Given the description of an element on the screen output the (x, y) to click on. 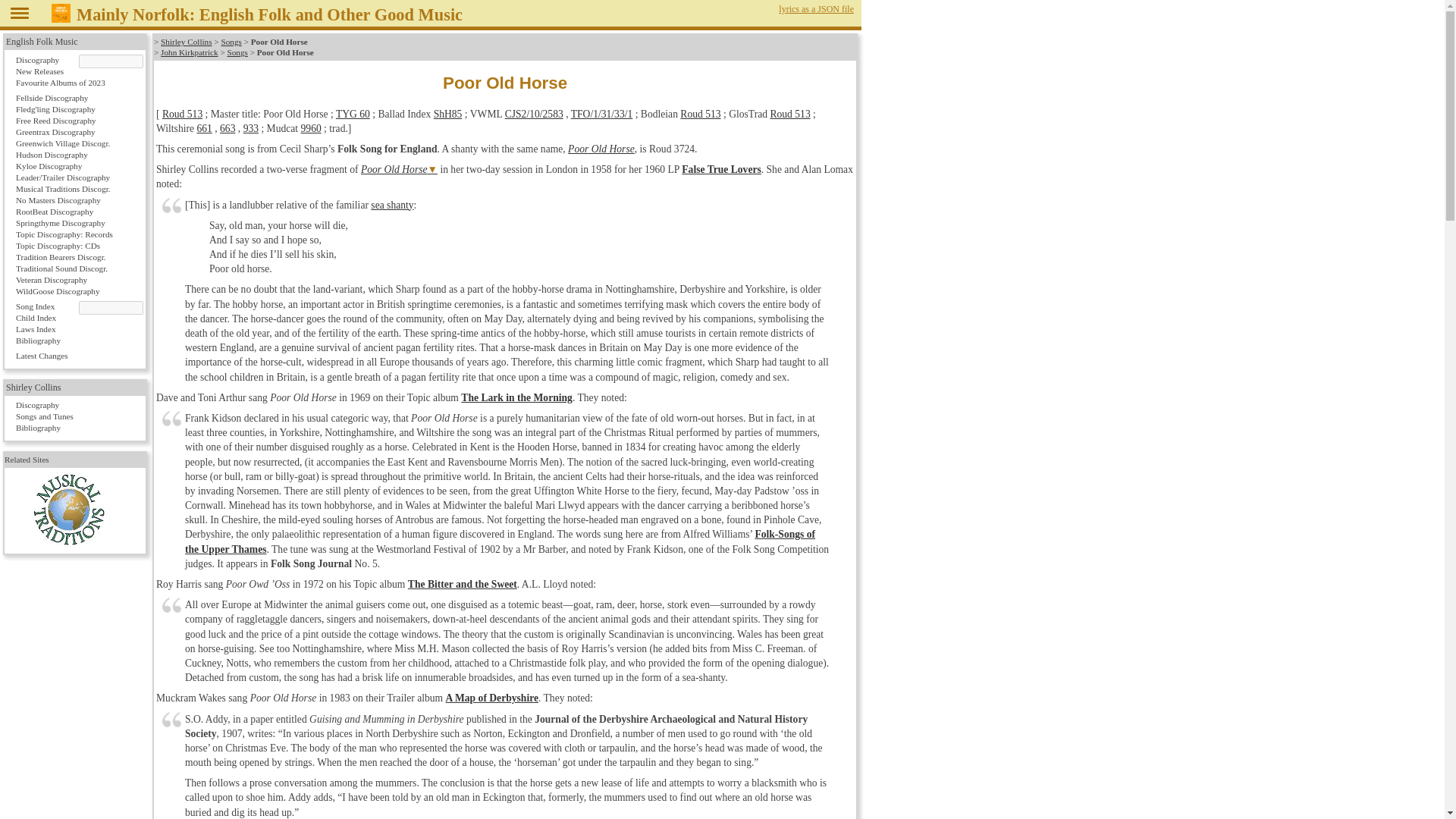
Musical Traditions (68, 509)
Songs (237, 51)
lyrics as a JSON file (815, 9)
TYG 60 (352, 113)
Roud 513 (181, 113)
Folk-Songs of the Upper Thames (499, 541)
Roud 513 (789, 113)
933 (251, 128)
John Kirkpatrick (189, 51)
Poor Old Horse (600, 148)
